Given the description of an element on the screen output the (x, y) to click on. 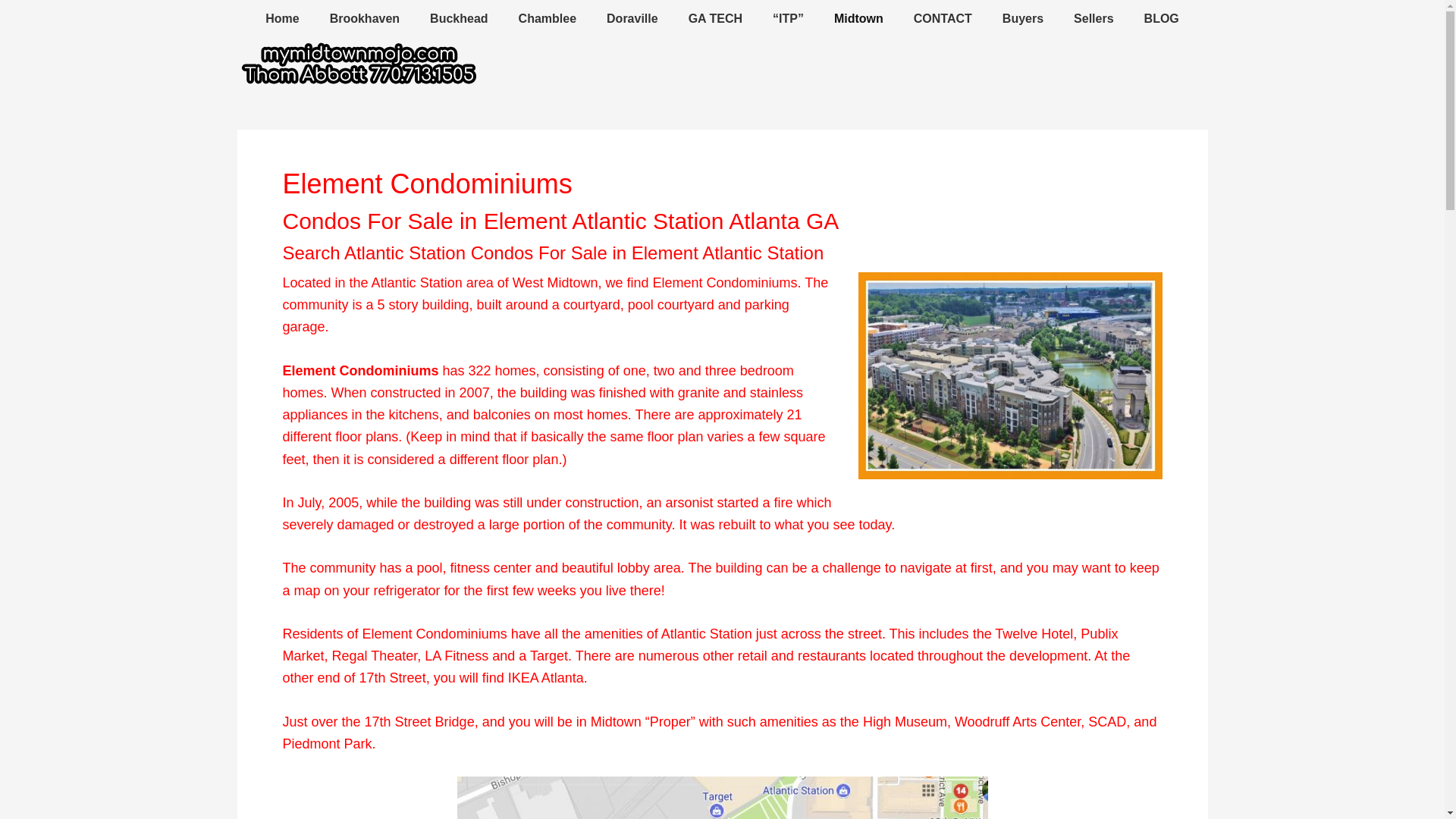
About Buckhead Atlanta (458, 19)
Buckhead (458, 19)
Brookhaven (364, 19)
GA TECH (714, 19)
About Georgia Tech (714, 19)
About Chamblee (547, 19)
Chamblee (547, 19)
Home (282, 19)
Doraville (631, 19)
About Doraville (631, 19)
